Given the description of an element on the screen output the (x, y) to click on. 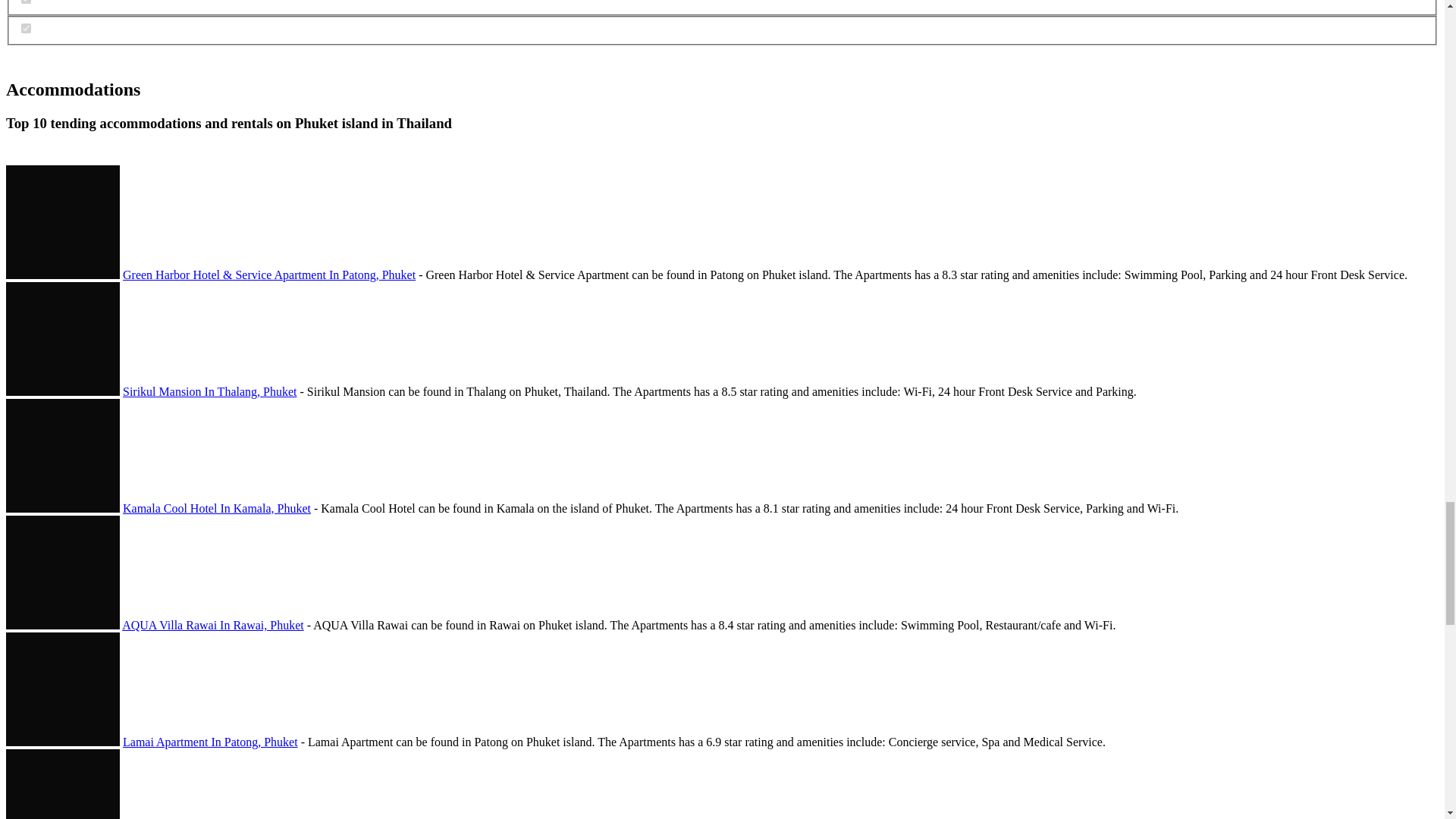
AQUA Villa Rawai in Rawai (62, 572)
Kamala Cool Hotel in Kamala (62, 455)
Sirikul Mansion in Thalang (62, 338)
post (25, 28)
Lamai Apartment in Patong (62, 689)
Ra Residence Phuket in Chalong (62, 784)
excerpt (25, 2)
